Given the description of an element on the screen output the (x, y) to click on. 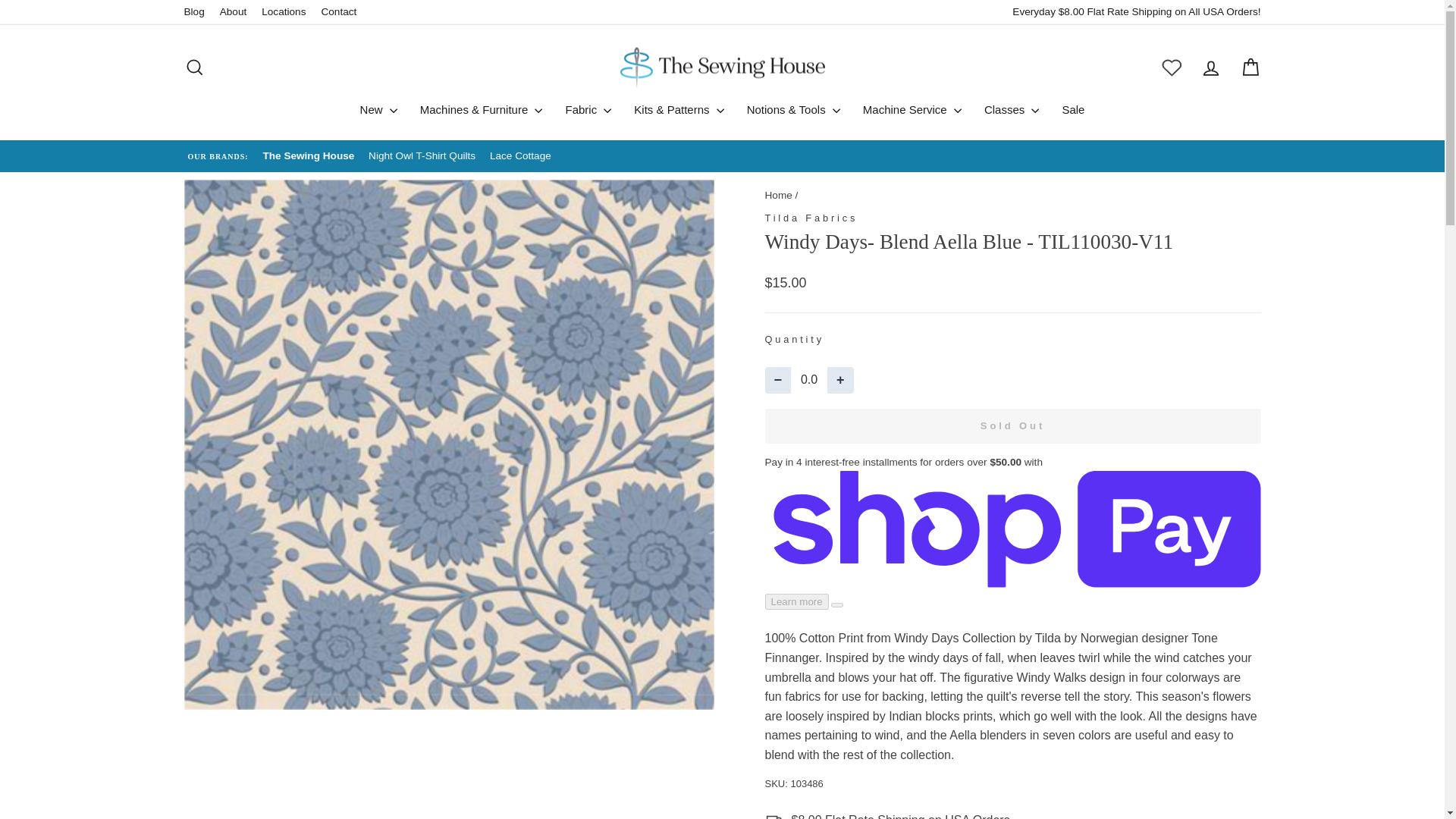
Decrease Quantity (777, 379)
Back to the frontpage (778, 194)
0.0 (808, 379)
account (1210, 67)
icon-search (194, 66)
Lace Cottage (520, 156)
Increase Quantity (840, 379)
